Given the description of an element on the screen output the (x, y) to click on. 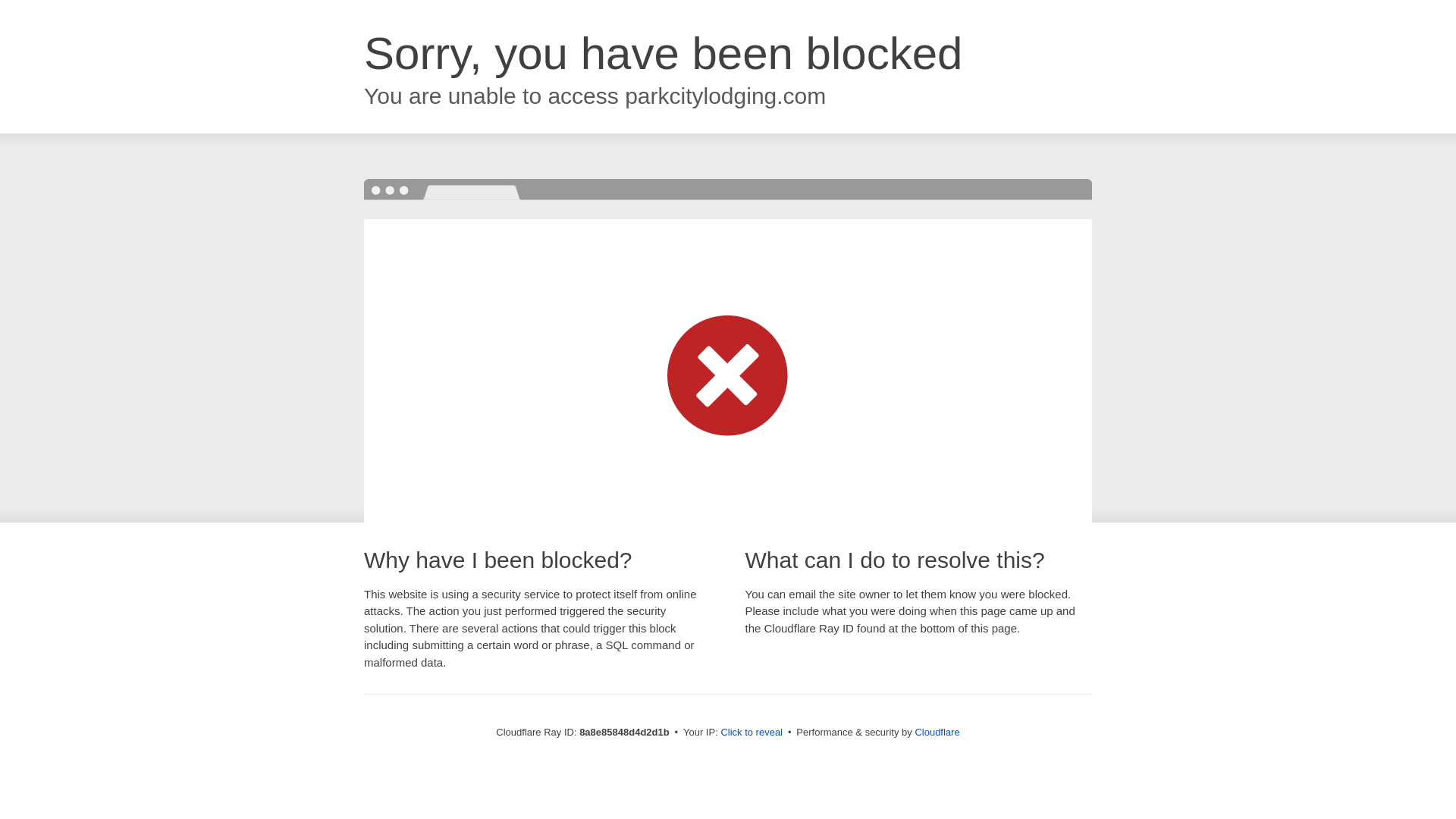
Click to reveal (751, 732)
Cloudflare (936, 731)
